Given the description of an element on the screen output the (x, y) to click on. 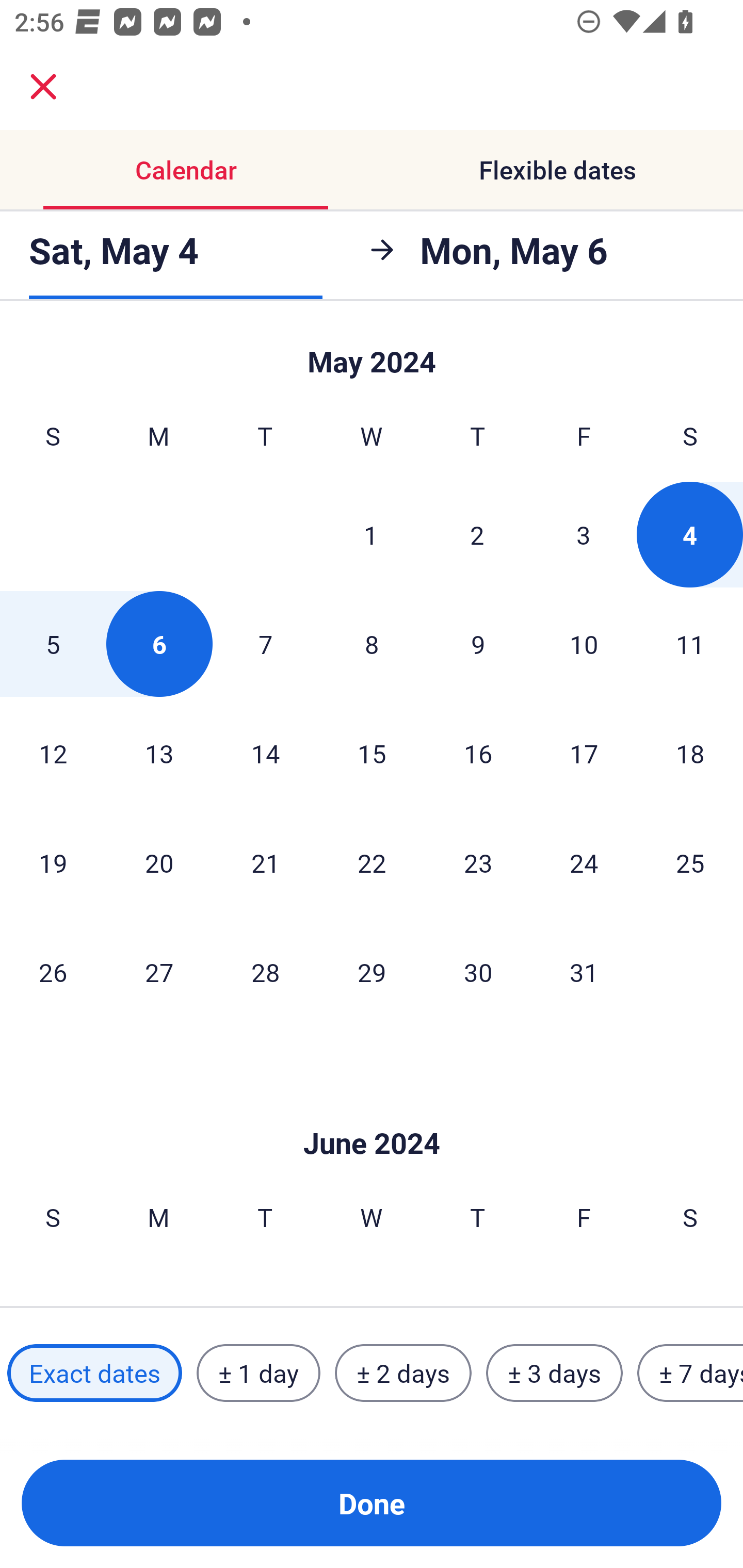
close. (43, 86)
Flexible dates (557, 170)
Skip to Done (371, 352)
1 Wednesday, May 1, 2024 (371, 534)
2 Thursday, May 2, 2024 (477, 534)
3 Friday, May 3, 2024 (583, 534)
7 Tuesday, May 7, 2024 (265, 643)
8 Wednesday, May 8, 2024 (371, 643)
9 Thursday, May 9, 2024 (477, 643)
10 Friday, May 10, 2024 (584, 643)
11 Saturday, May 11, 2024 (690, 643)
12 Sunday, May 12, 2024 (53, 752)
13 Monday, May 13, 2024 (159, 752)
14 Tuesday, May 14, 2024 (265, 752)
15 Wednesday, May 15, 2024 (371, 752)
16 Thursday, May 16, 2024 (477, 752)
17 Friday, May 17, 2024 (584, 752)
18 Saturday, May 18, 2024 (690, 752)
19 Sunday, May 19, 2024 (53, 862)
20 Monday, May 20, 2024 (159, 862)
21 Tuesday, May 21, 2024 (265, 862)
22 Wednesday, May 22, 2024 (371, 862)
23 Thursday, May 23, 2024 (477, 862)
24 Friday, May 24, 2024 (584, 862)
25 Saturday, May 25, 2024 (690, 862)
26 Sunday, May 26, 2024 (53, 971)
27 Monday, May 27, 2024 (159, 971)
28 Tuesday, May 28, 2024 (265, 971)
29 Wednesday, May 29, 2024 (371, 971)
30 Thursday, May 30, 2024 (477, 971)
31 Friday, May 31, 2024 (584, 971)
Skip to Done (371, 1112)
Exact dates (94, 1372)
± 1 day (258, 1372)
± 2 days (403, 1372)
± 3 days (553, 1372)
± 7 days (690, 1372)
Done (371, 1502)
